Given the description of an element on the screen output the (x, y) to click on. 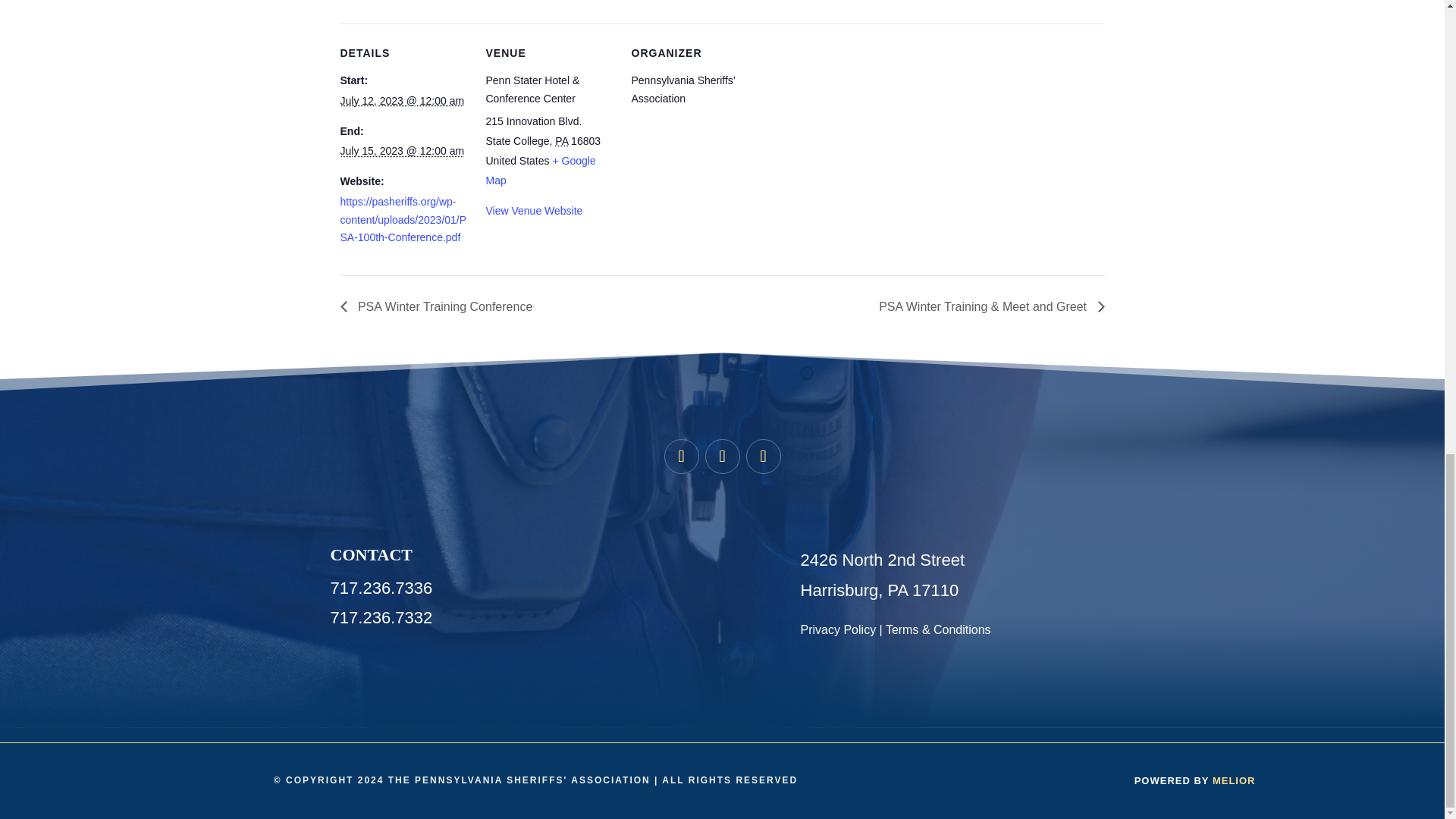
2023-07-12 (401, 101)
Pennsylvania (560, 141)
Follow on X (721, 456)
Follow on Instagram (762, 456)
Follow on Facebook (680, 456)
2023-07-15 (401, 150)
Click to view a Google Map (539, 170)
